Given the description of an element on the screen output the (x, y) to click on. 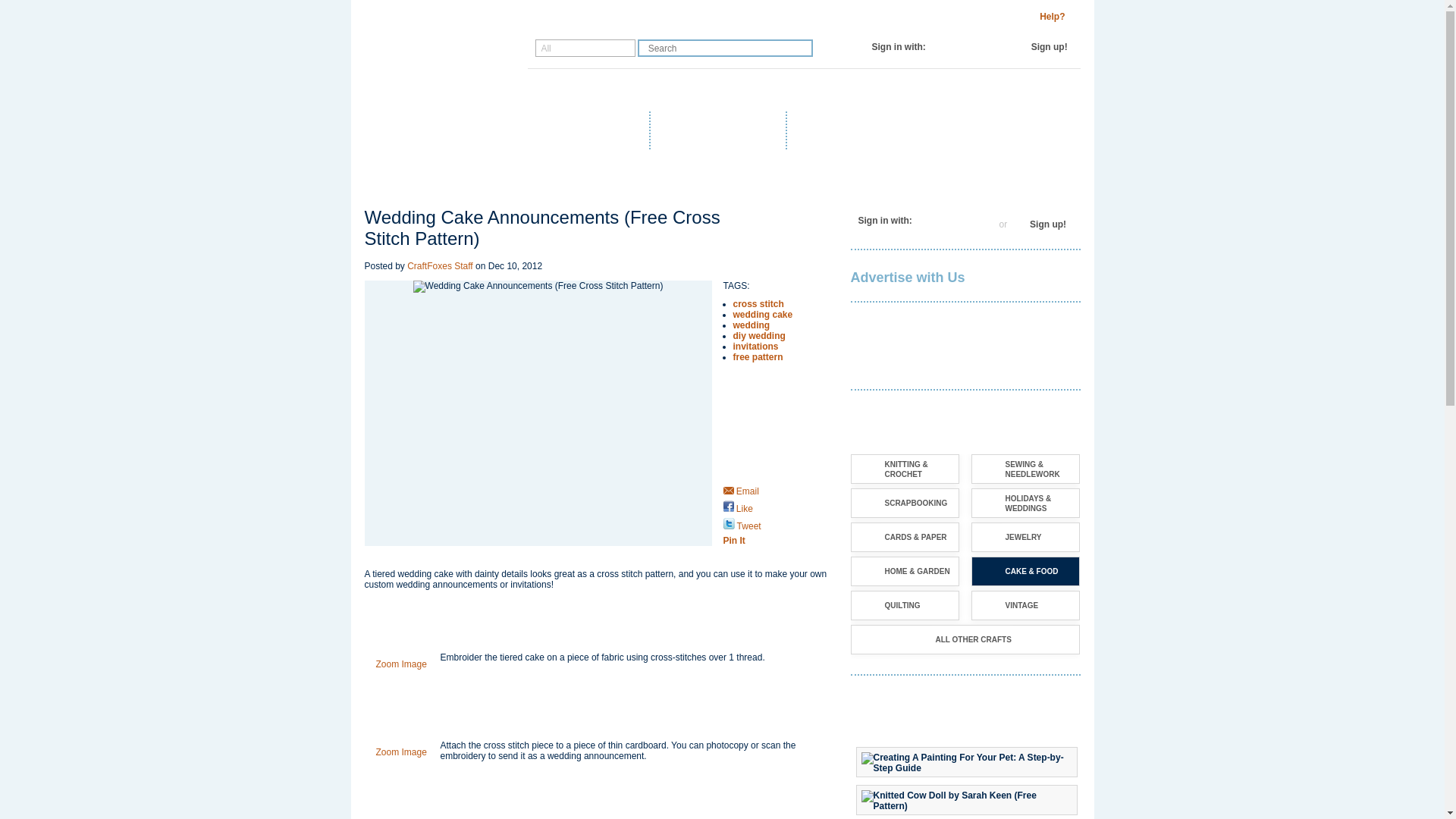
Sign in with Twitter account (958, 220)
Sign in with Facebook account (943, 220)
Email (740, 491)
invitations (754, 346)
Sign up! (1048, 46)
Sign in with Twitter account (972, 46)
Find (801, 47)
Blog (595, 90)
cross stitch (757, 303)
Like (737, 508)
